Given the description of an element on the screen output the (x, y) to click on. 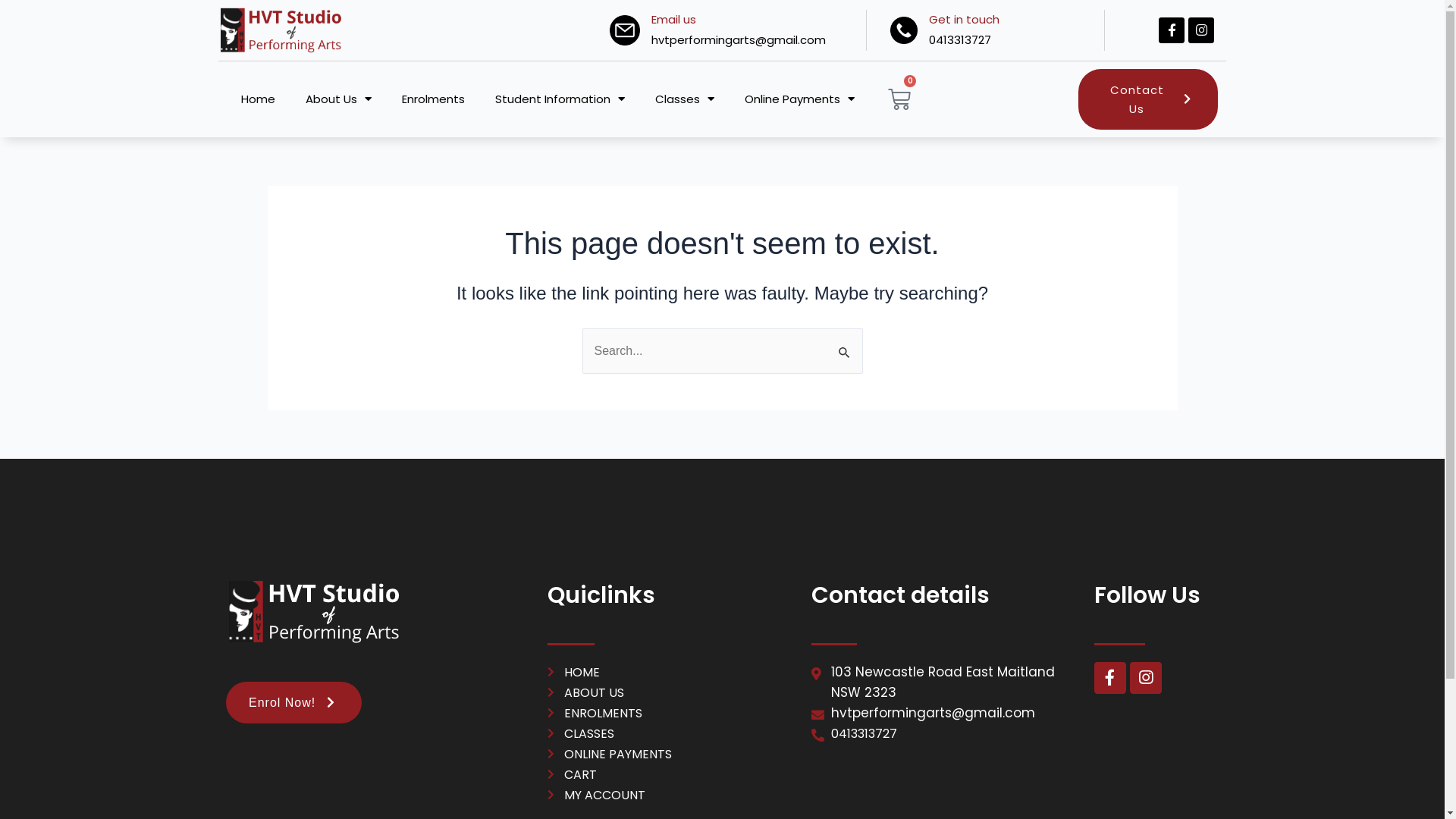
Enrolments Element type: text (433, 98)
ABOUT US Element type: text (671, 692)
Instagram Element type: text (1201, 30)
Contact Us Element type: text (1147, 99)
0413313727 Element type: text (945, 733)
ENROLMENTS Element type: text (671, 712)
0413313727 Element type: text (959, 39)
Home Element type: text (257, 98)
CART Element type: text (671, 774)
Enrol Now! Element type: text (293, 702)
About Us Element type: text (338, 98)
Facebook-f Element type: text (1171, 30)
ONLINE PAYMENTS Element type: text (671, 753)
Classes Element type: text (684, 98)
MY ACCOUNT Element type: text (671, 794)
CLASSES Element type: text (671, 733)
Search Element type: text (845, 344)
Facebook-f Element type: text (1110, 677)
Online Payments Element type: text (799, 98)
HOME Element type: text (671, 672)
Instagram Element type: text (1145, 677)
0
Cart Element type: text (898, 99)
Student Information Element type: text (560, 98)
